Given the description of an element on the screen output the (x, y) to click on. 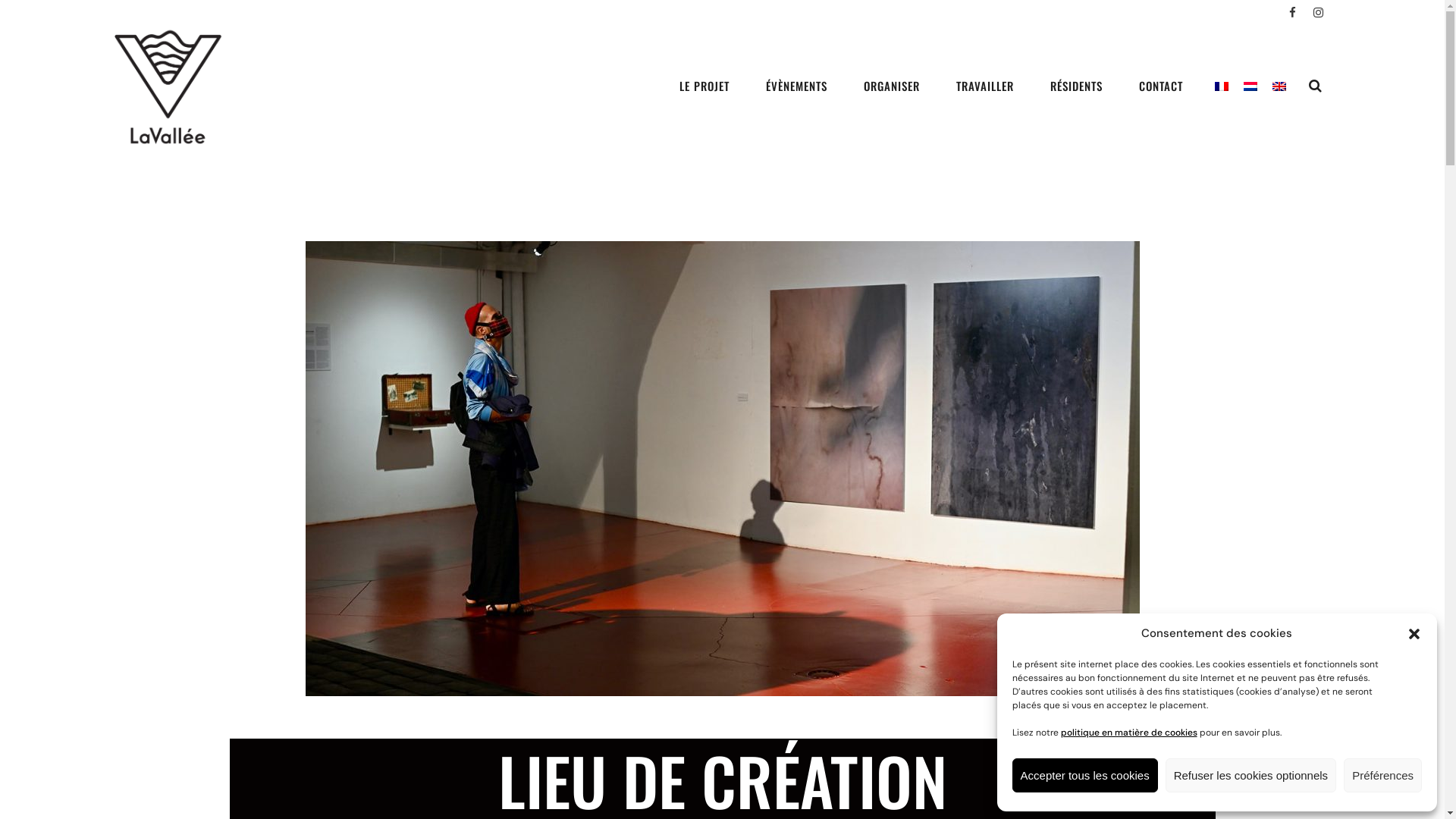
Accepter tous les cookies Element type: text (1084, 775)
TRAVAILLER Element type: text (985, 85)
ORGANISER Element type: text (891, 85)
LE PROJET Element type: text (704, 85)
CONTACT Element type: text (1160, 85)
Refuser les cookies optionnels Element type: text (1250, 775)
